Given the description of an element on the screen output the (x, y) to click on. 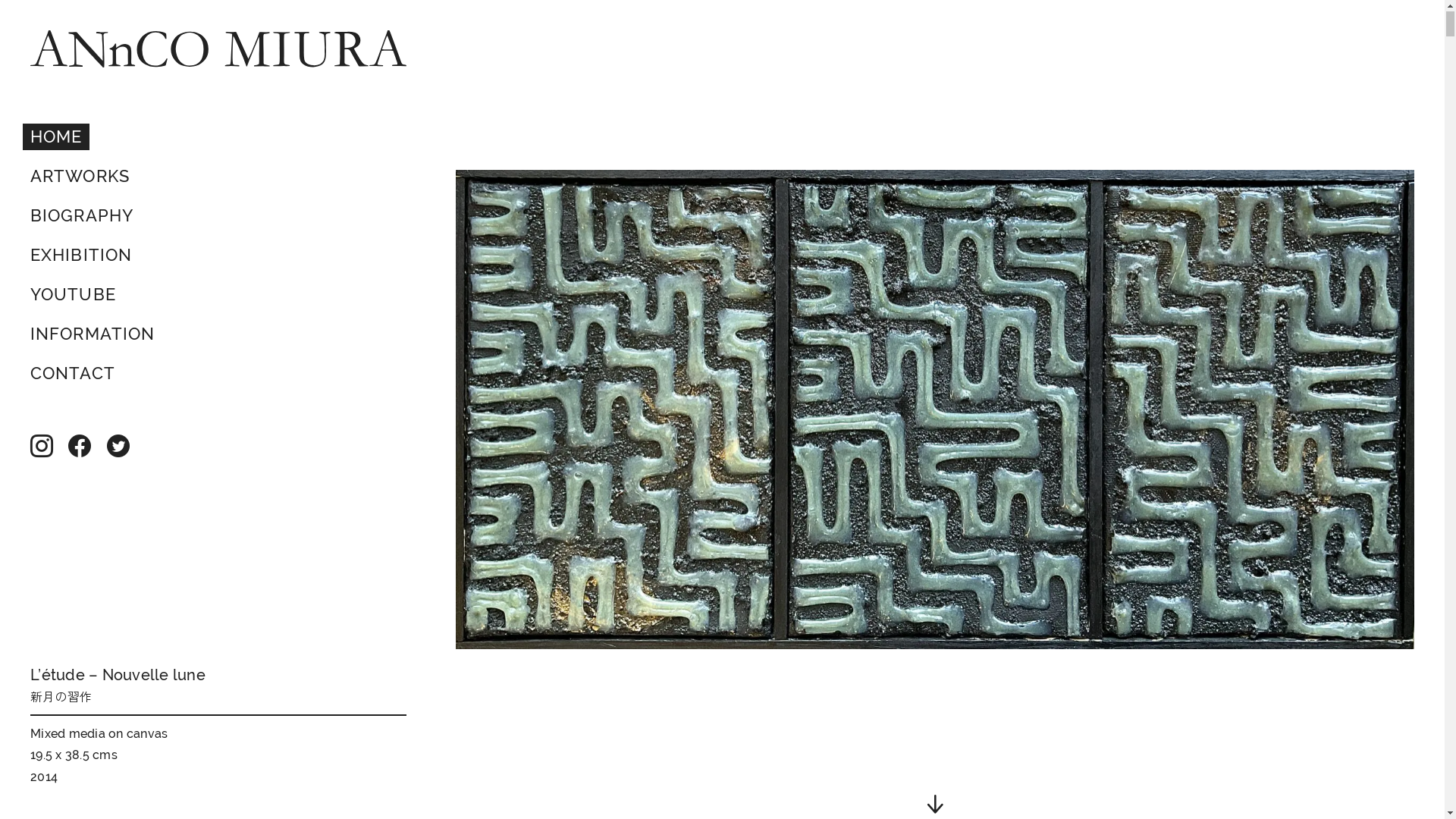
HOME Element type: text (55, 137)
YOUTUBE Element type: text (72, 295)
INFORMATION Element type: text (92, 334)
EXHIBITION Element type: text (80, 255)
BIOGRAPHY Element type: text (81, 216)
CONTACT Element type: text (72, 374)
ARTWORKS Element type: text (79, 177)
